Given the description of an element on the screen output the (x, y) to click on. 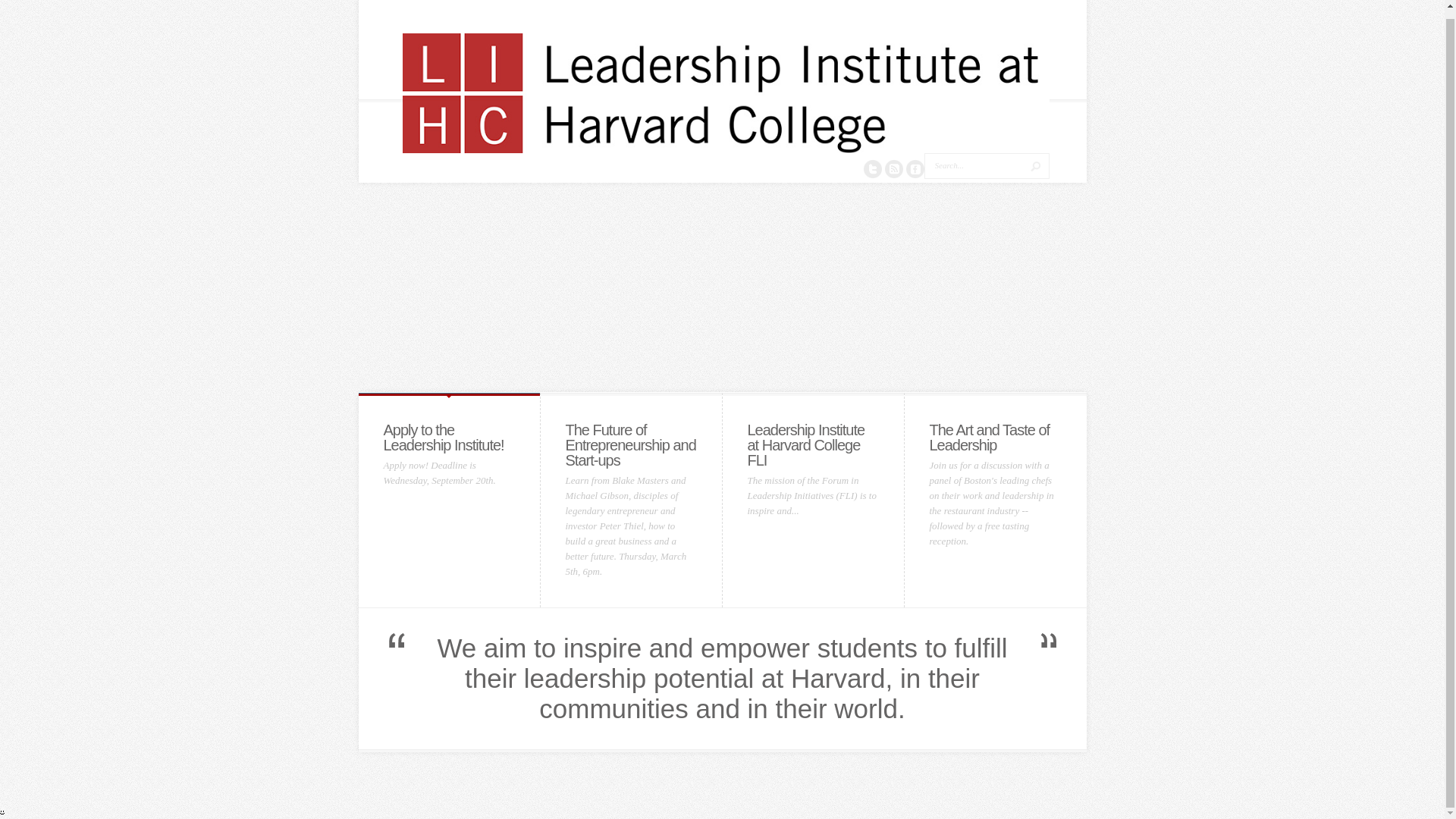
Search... (974, 164)
